Given the description of an element on the screen output the (x, y) to click on. 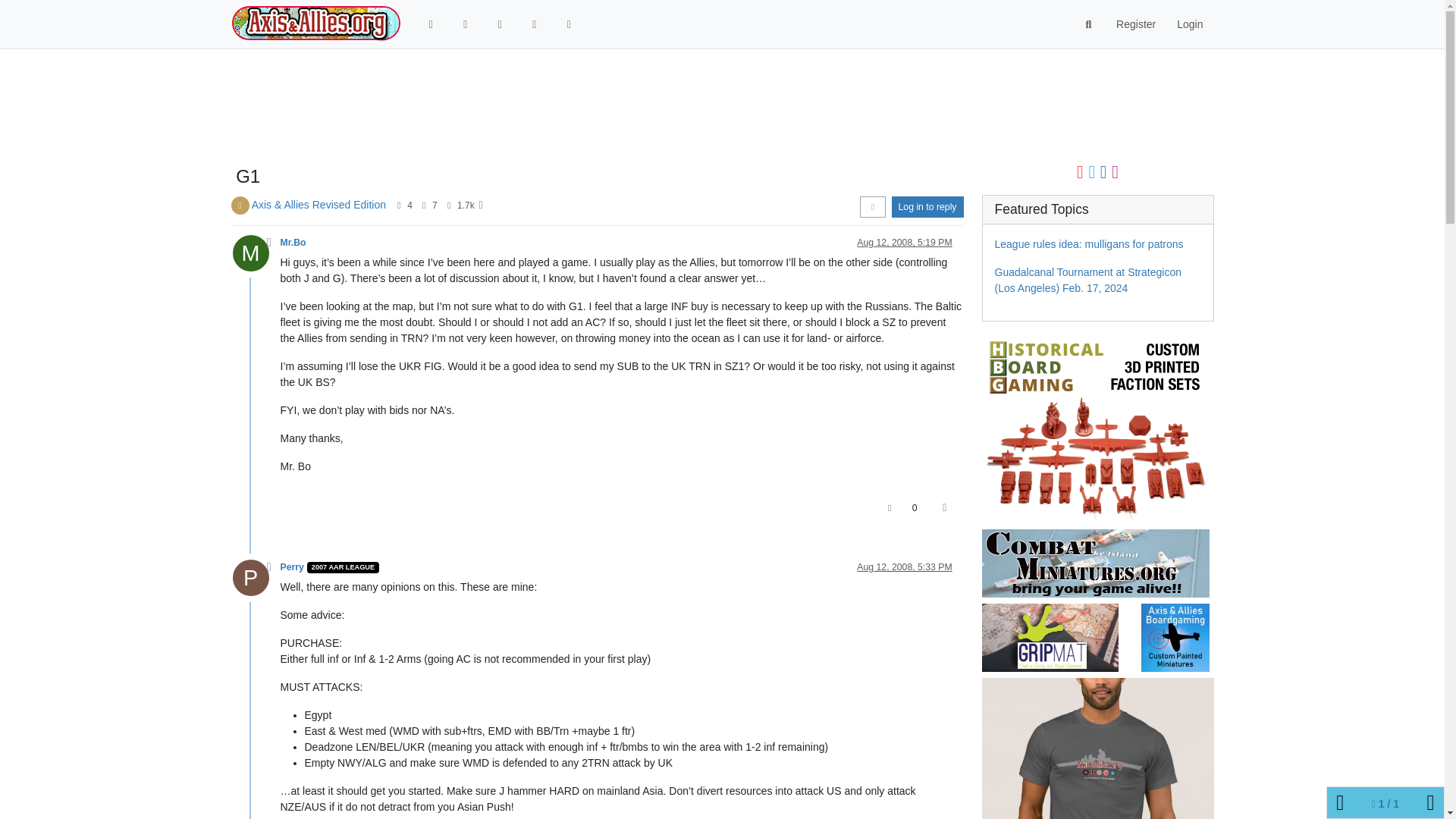
Mr.Bo (293, 242)
Home (430, 24)
M (255, 256)
Register (1135, 24)
Search (1088, 24)
Posters (398, 204)
Login (1189, 24)
Users (568, 24)
Aug 12, 2008, 5:19 PM (904, 242)
Recent (498, 24)
Advertisement (662, 107)
Categories (465, 24)
Popular (533, 24)
Log in to reply (927, 206)
